Given the description of an element on the screen output the (x, y) to click on. 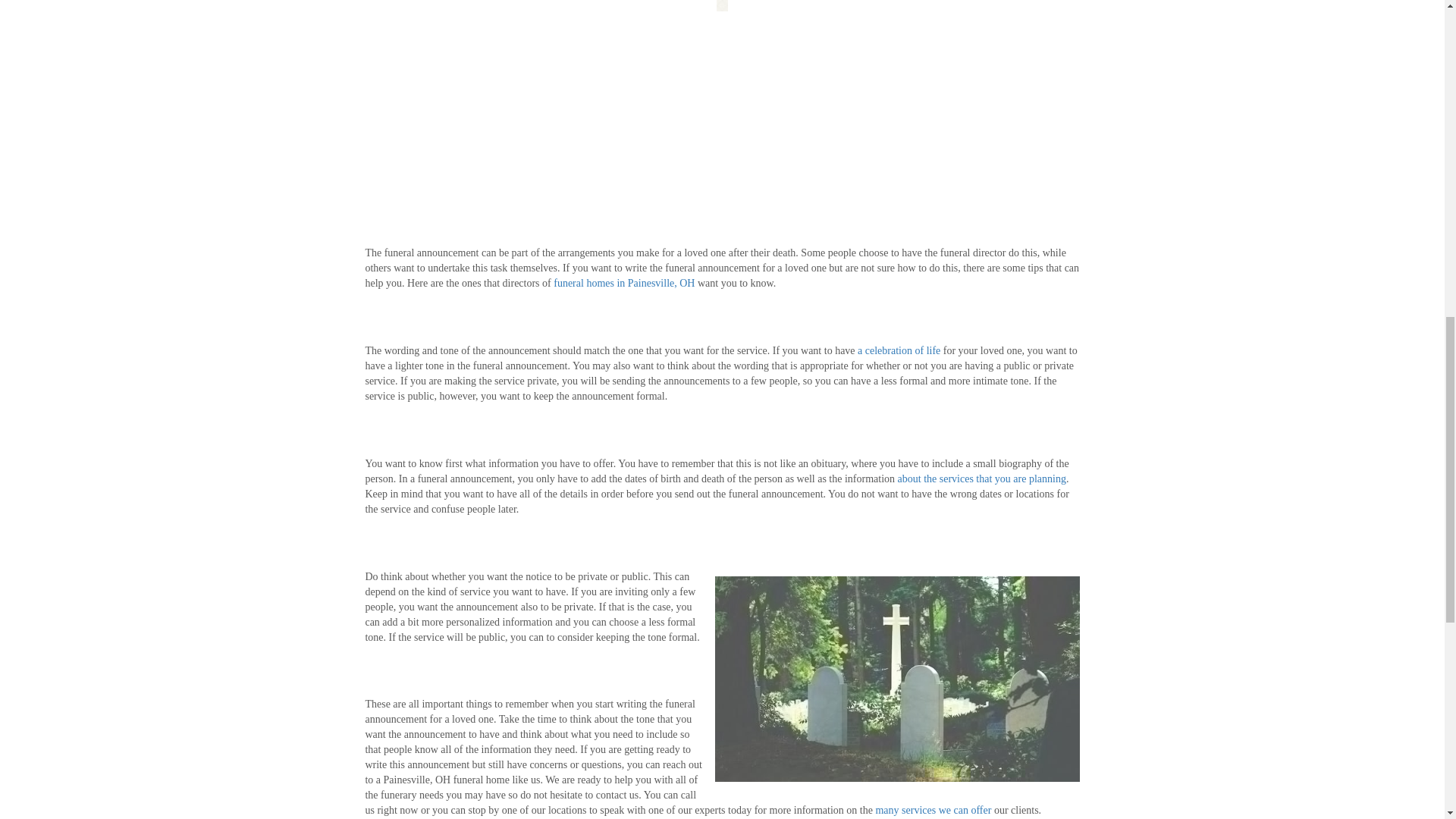
a celebration of life (898, 350)
about the services that you are planning (981, 478)
funeral homes in Painesville, OH (623, 283)
